Given the description of an element on the screen output the (x, y) to click on. 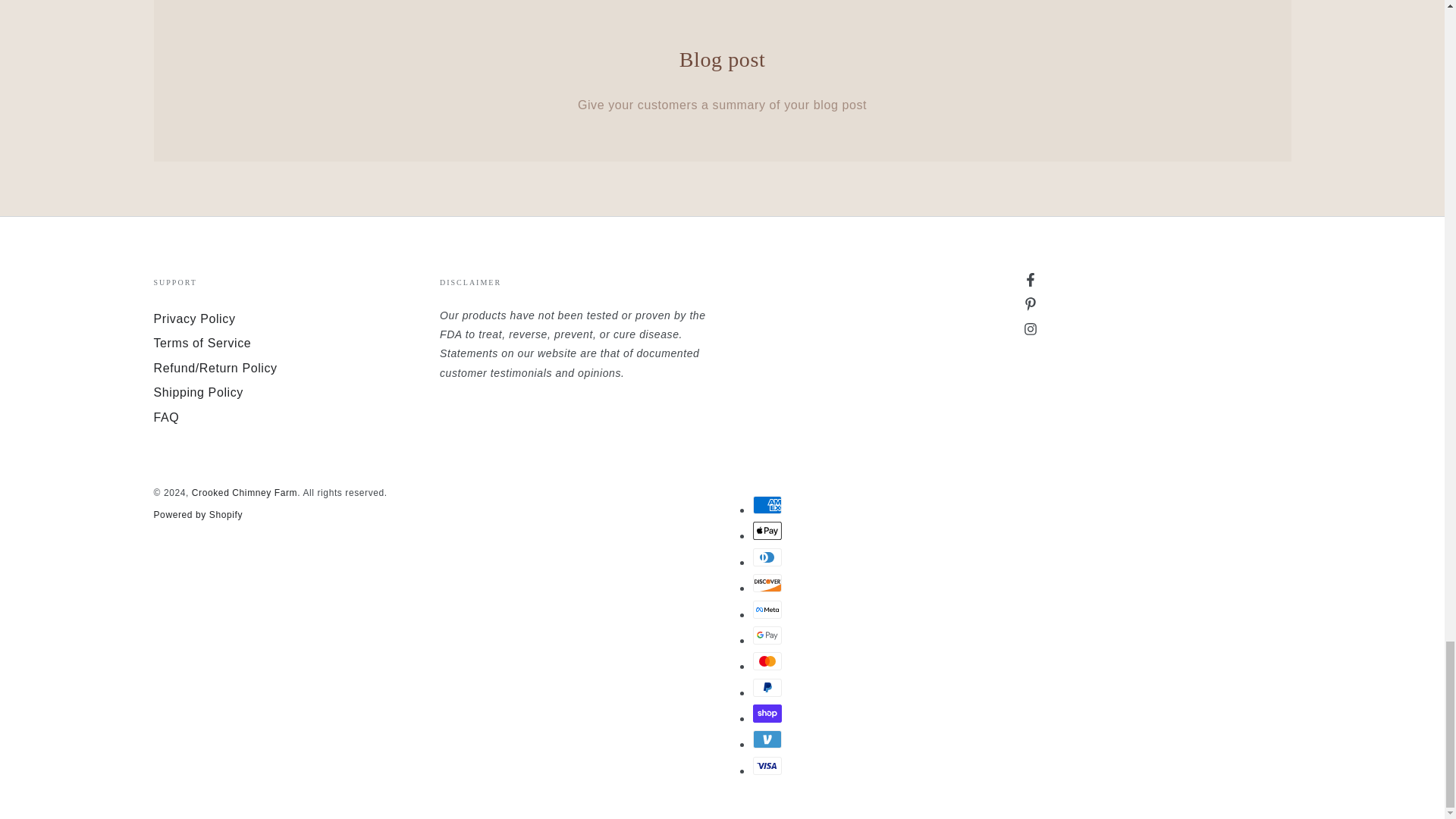
Diners Club (766, 556)
Mastercard (766, 660)
PayPal (766, 687)
Apple Pay (766, 530)
American Express (766, 505)
Discover (766, 583)
Shop Pay (766, 713)
Google Pay (766, 635)
Meta Pay (766, 608)
